Given the description of an element on the screen output the (x, y) to click on. 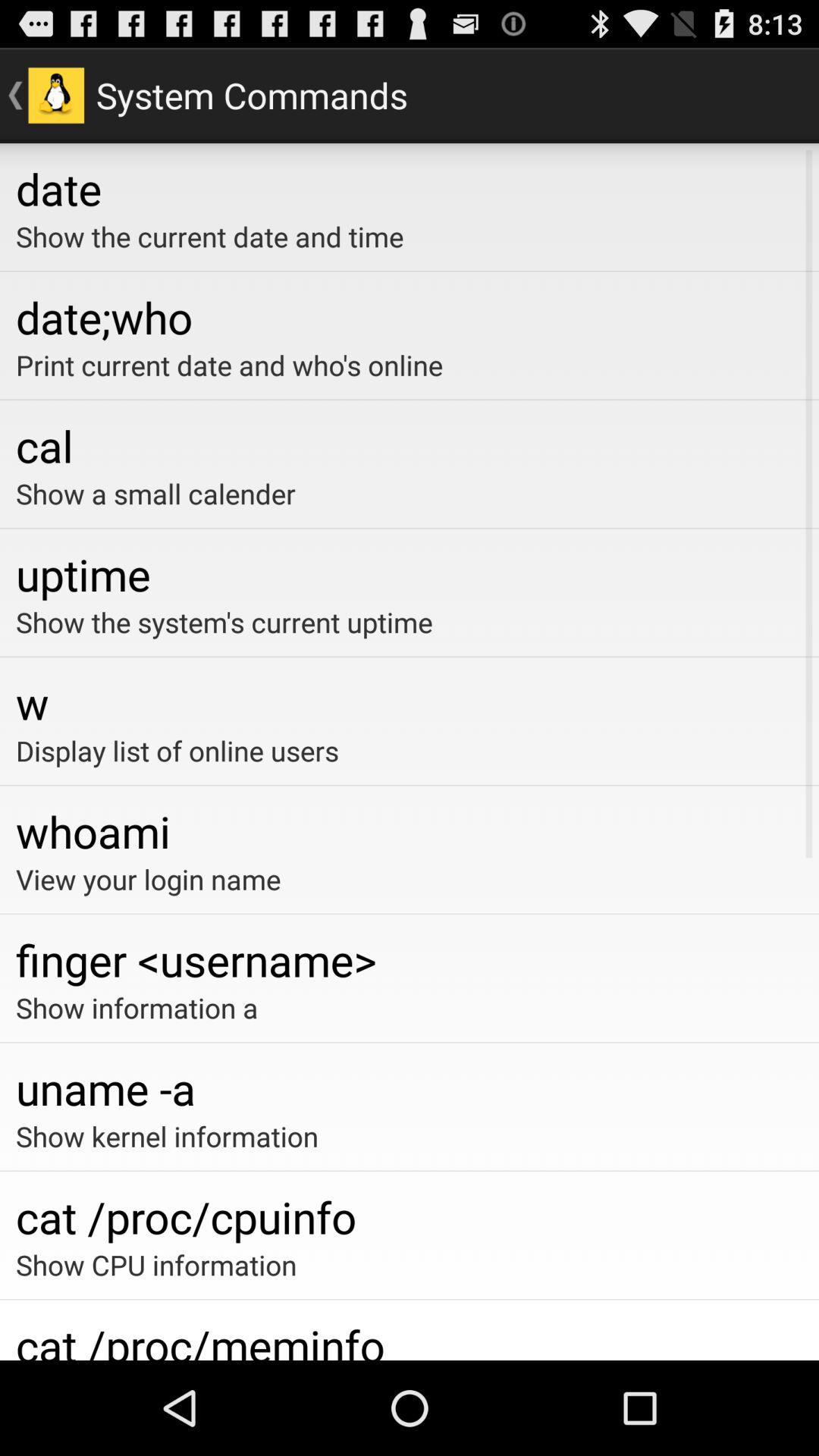
jump to cal icon (409, 445)
